Given the description of an element on the screen output the (x, y) to click on. 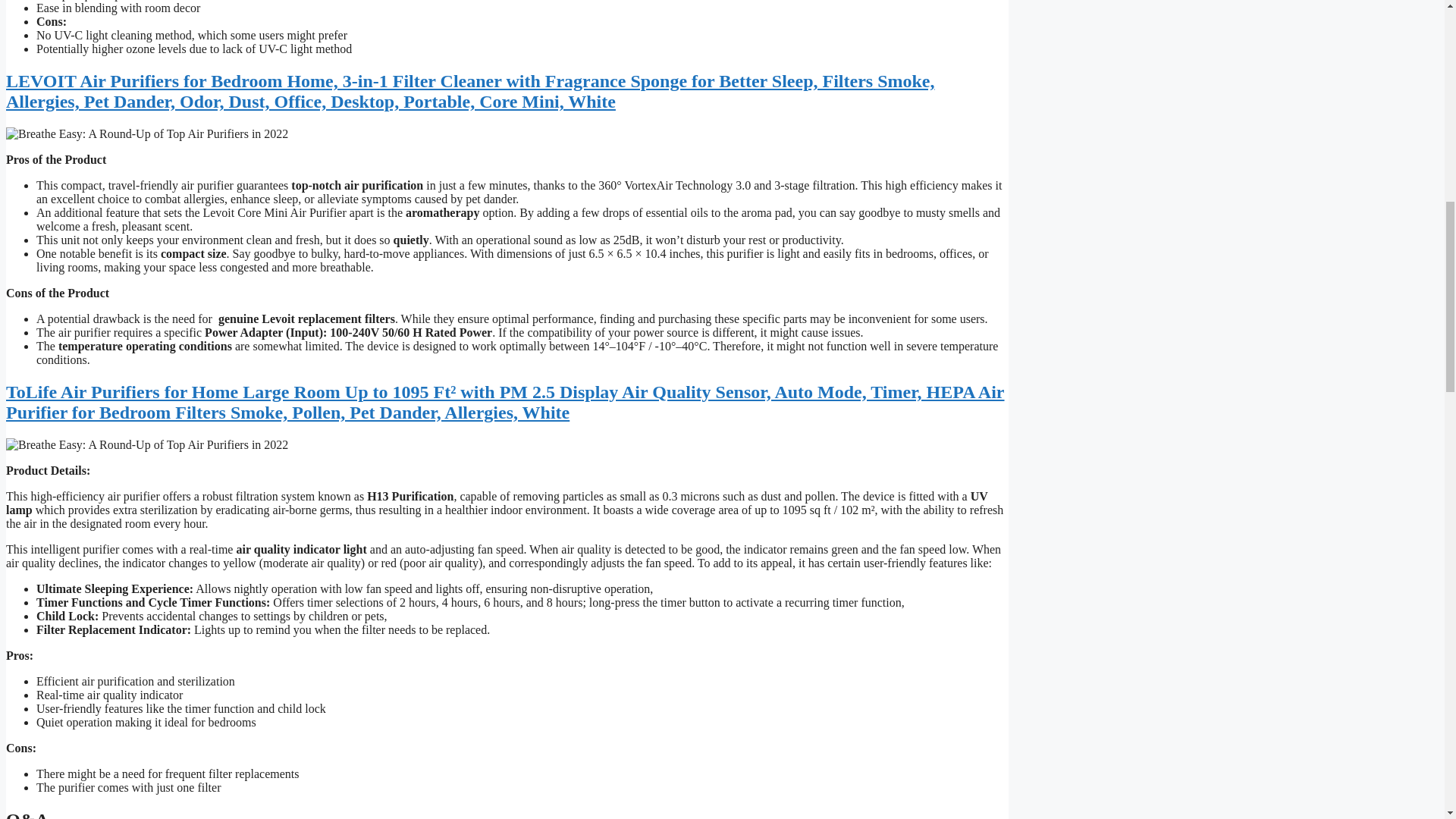
Scroll back to top (1406, 720)
